Given the description of an element on the screen output the (x, y) to click on. 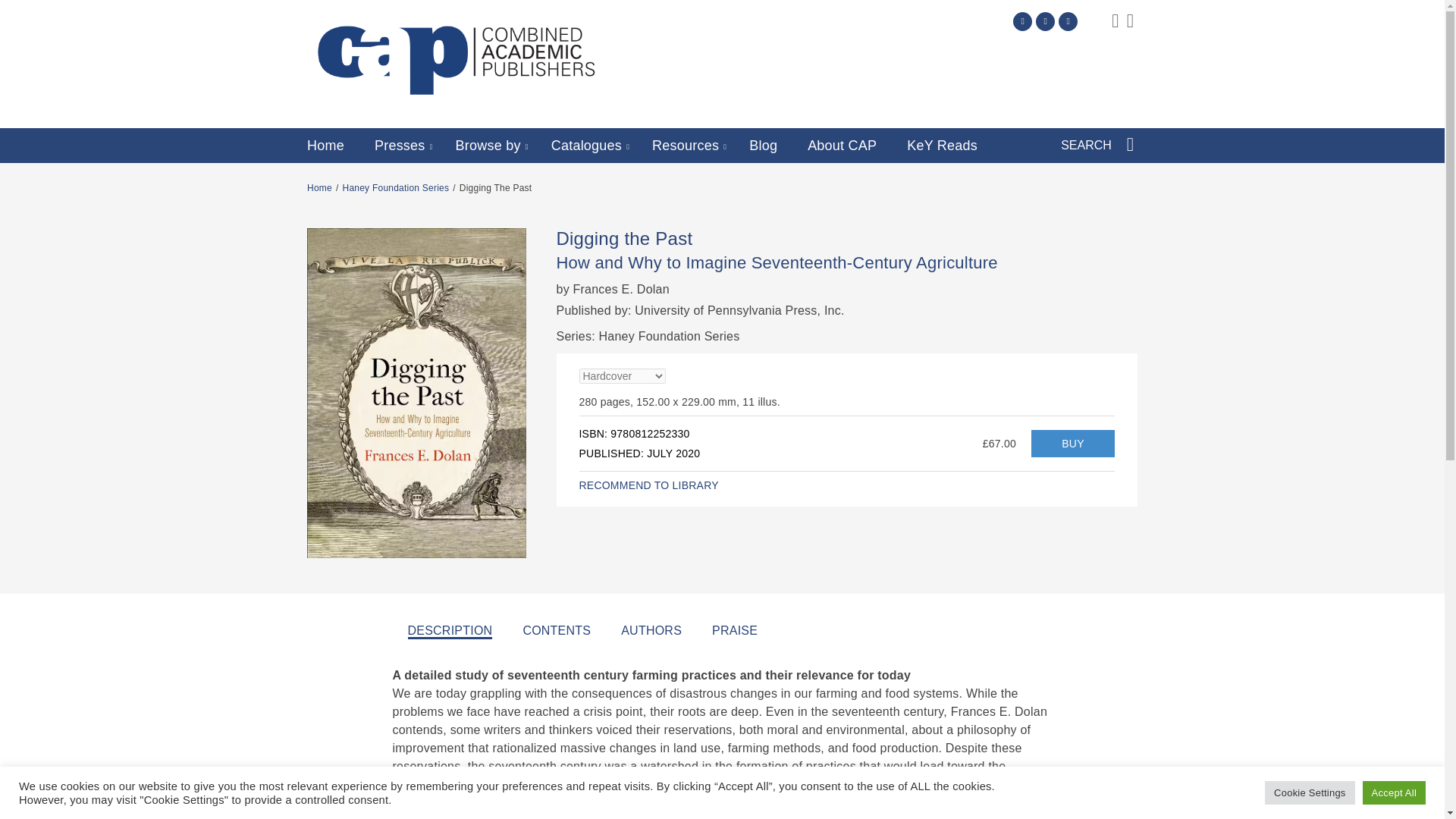
Browse by (488, 145)
Catalogues (586, 145)
Recommend to Library (649, 485)
Back to homepage (319, 187)
Home (325, 145)
Follow us on Instagram (1067, 21)
Presses (399, 145)
View results for Haney Foundation Series (395, 187)
Digging the Past (1072, 443)
Follow us on Facebook (1044, 21)
